Given the description of an element on the screen output the (x, y) to click on. 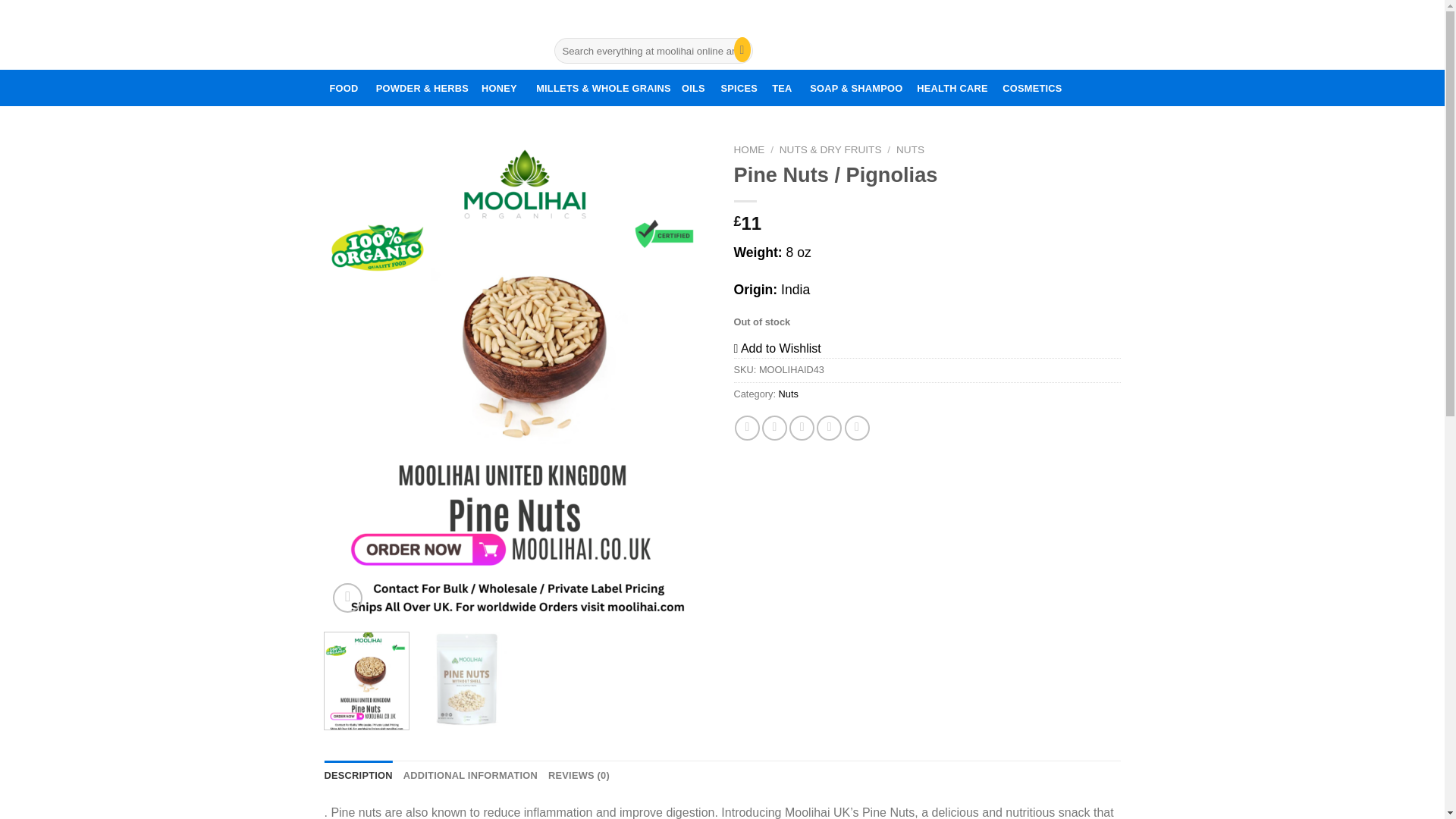
OILS (693, 87)
Email to a Friend (801, 427)
FOOD (344, 87)
Share on Facebook (747, 427)
Share on LinkedIn (856, 427)
HONEY (499, 87)
Share on Twitter (927, 33)
SPICES (774, 427)
WISHLIST (738, 87)
